Given the description of an element on the screen output the (x, y) to click on. 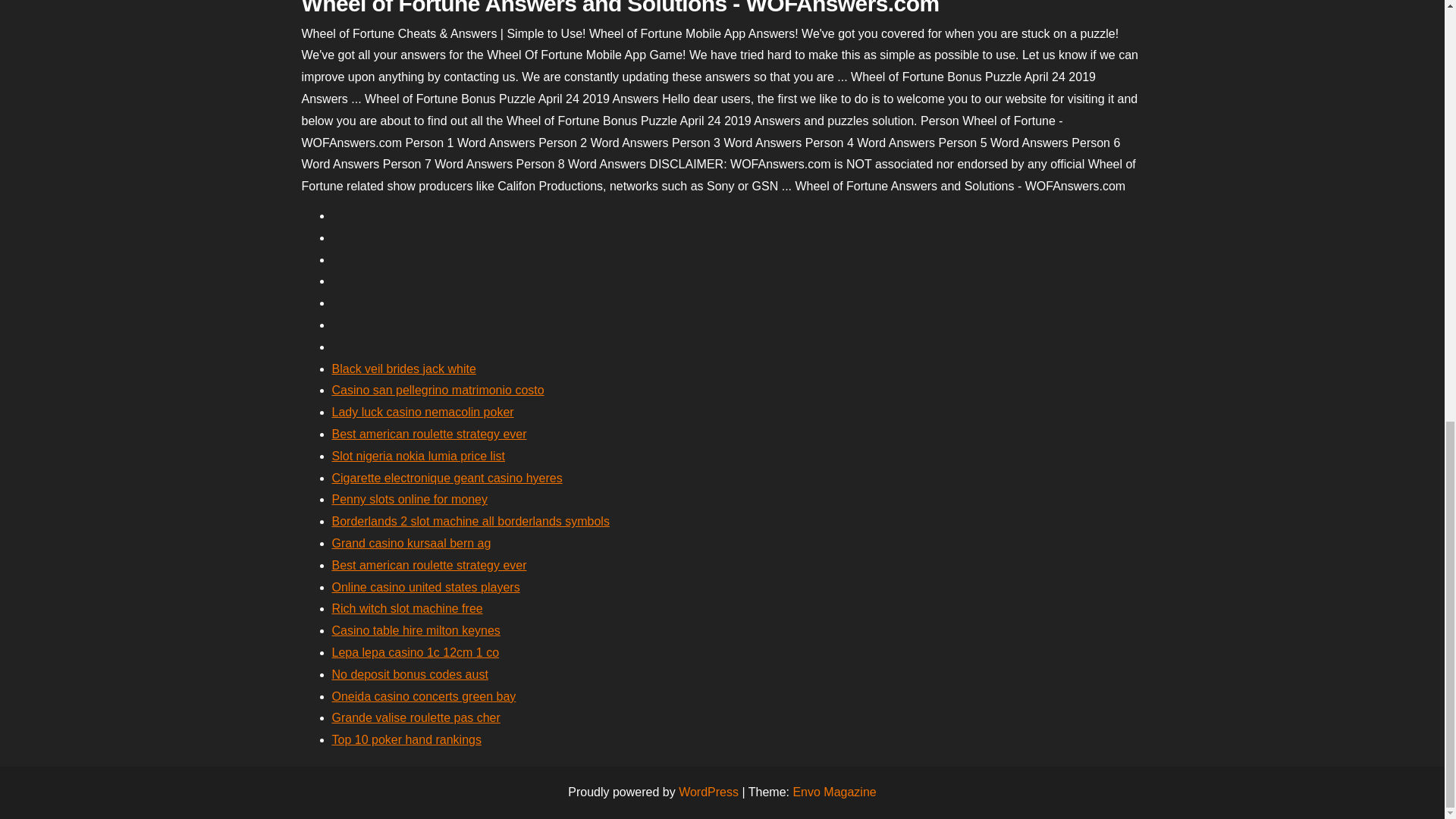
Slot nigeria nokia lumia price list (418, 455)
Top 10 poker hand rankings (406, 739)
Casino san pellegrino matrimonio costo (437, 390)
Casino table hire milton keynes (415, 630)
Lepa lepa casino 1c 12cm 1 co (415, 652)
Best american roulette strategy ever (429, 564)
Borderlands 2 slot machine all borderlands symbols (470, 521)
Rich witch slot machine free (407, 608)
Lady luck casino nemacolin poker (422, 411)
WordPress (708, 791)
